Given the description of an element on the screen output the (x, y) to click on. 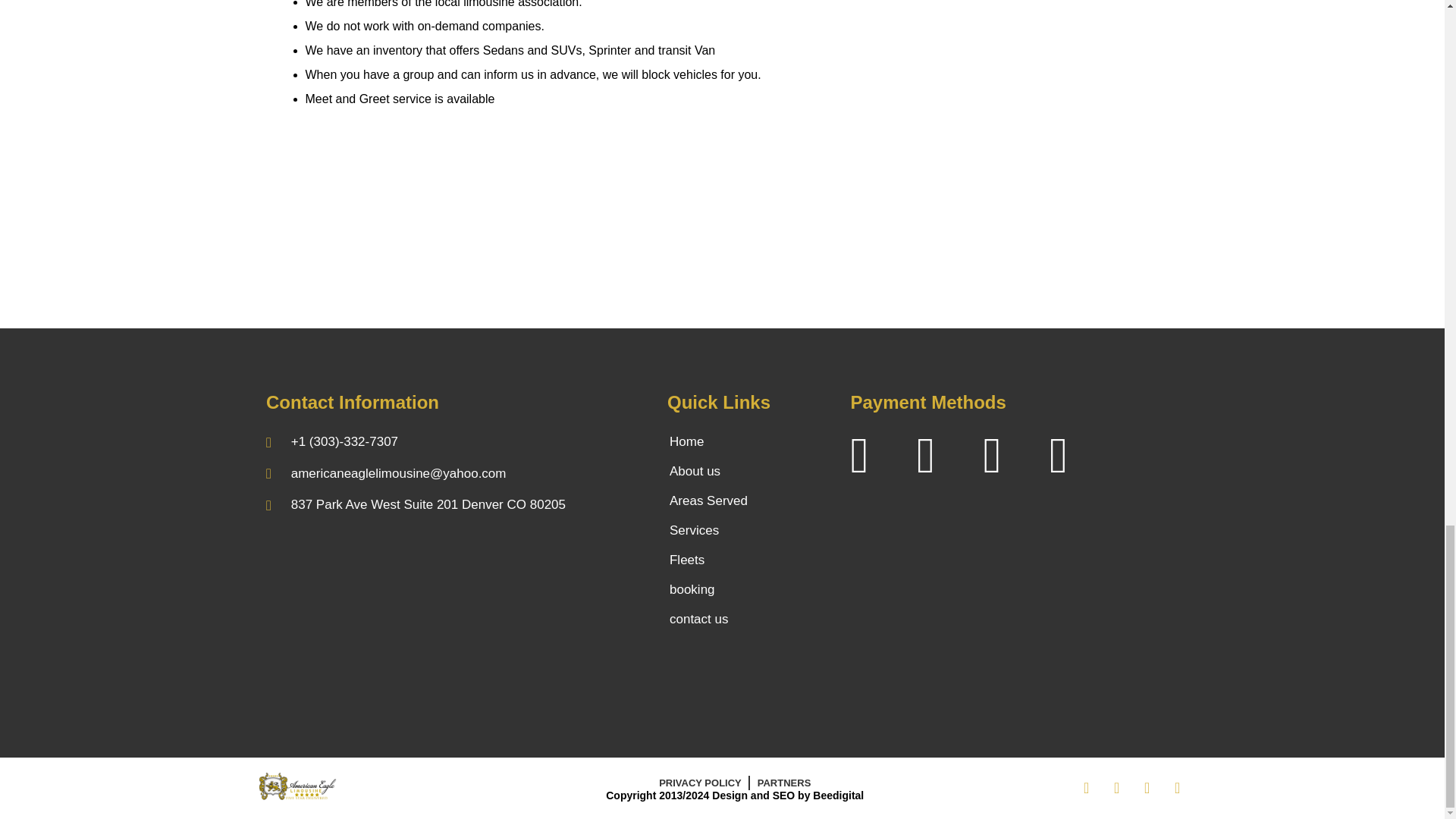
contact us (750, 618)
Areas Served (750, 500)
booking (750, 589)
Services (750, 530)
PARTNERS (783, 783)
PRIVACY POLICY (700, 783)
Home (750, 441)
Fleets (750, 559)
About us (750, 471)
